Given the description of an element on the screen output the (x, y) to click on. 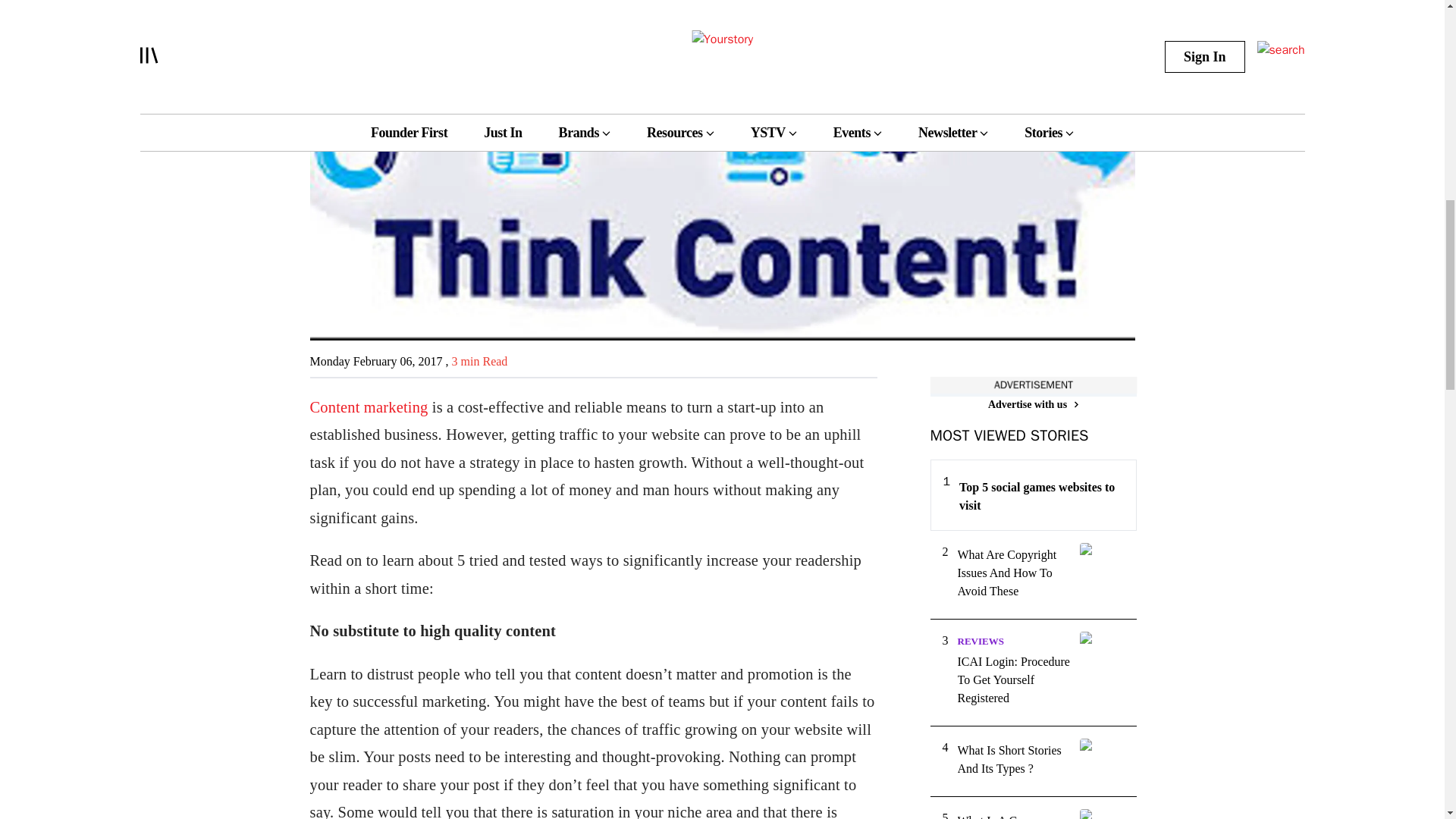
What Is Short Stories And Its Types ? (1013, 760)
REVIEWS (979, 641)
Content marketing (368, 406)
What Are Copyright Issues And How To Avoid These (1013, 573)
Top 5 social games websites to visit (1040, 496)
Advertise with us (1032, 404)
ICAI Login: Procedure To Get Yourself Registered (1013, 679)
What Is A Company Under The Companies Act? (1013, 815)
